Given the description of an element on the screen output the (x, y) to click on. 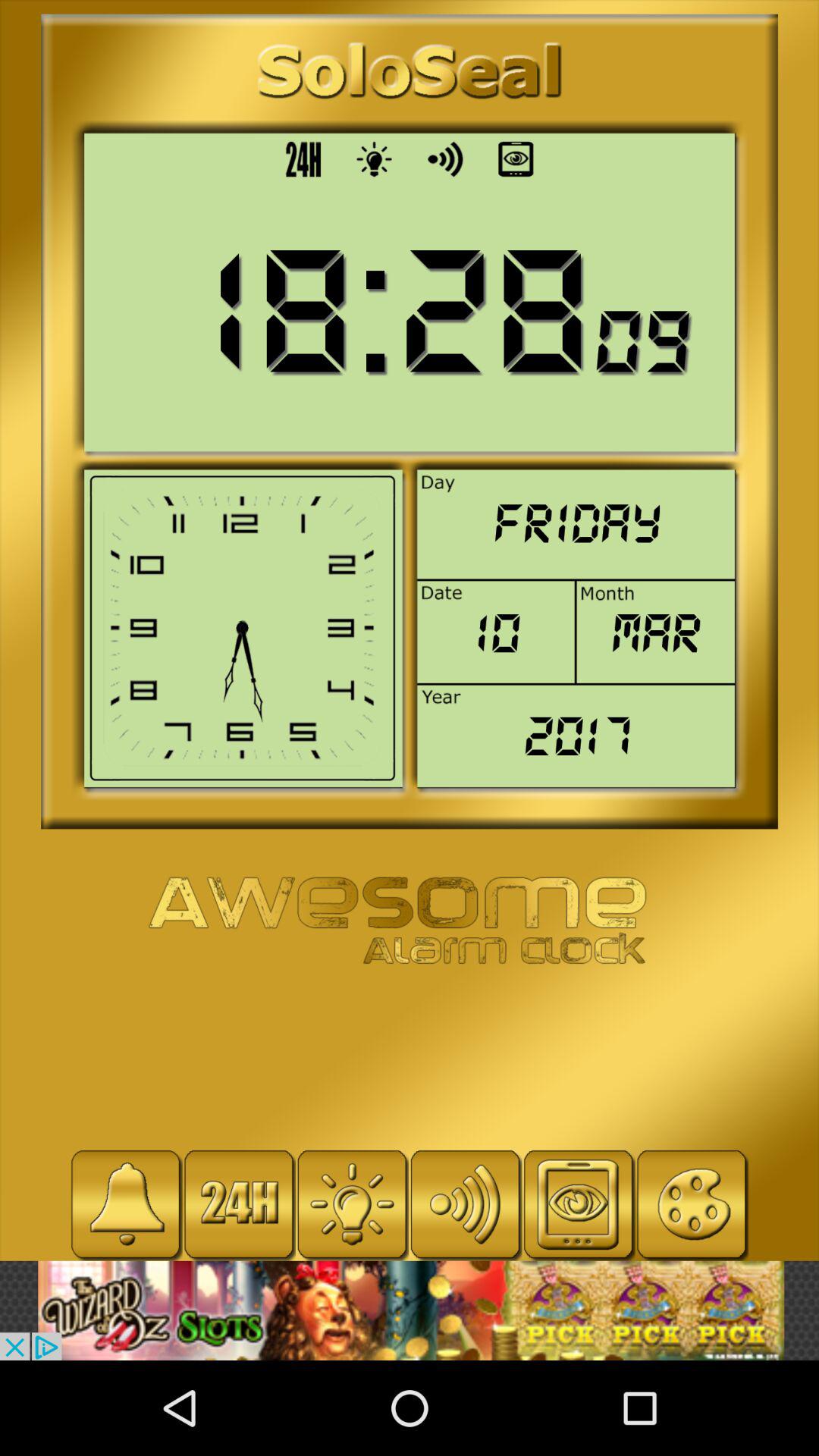
wi-fi selected (465, 1203)
